Given the description of an element on the screen output the (x, y) to click on. 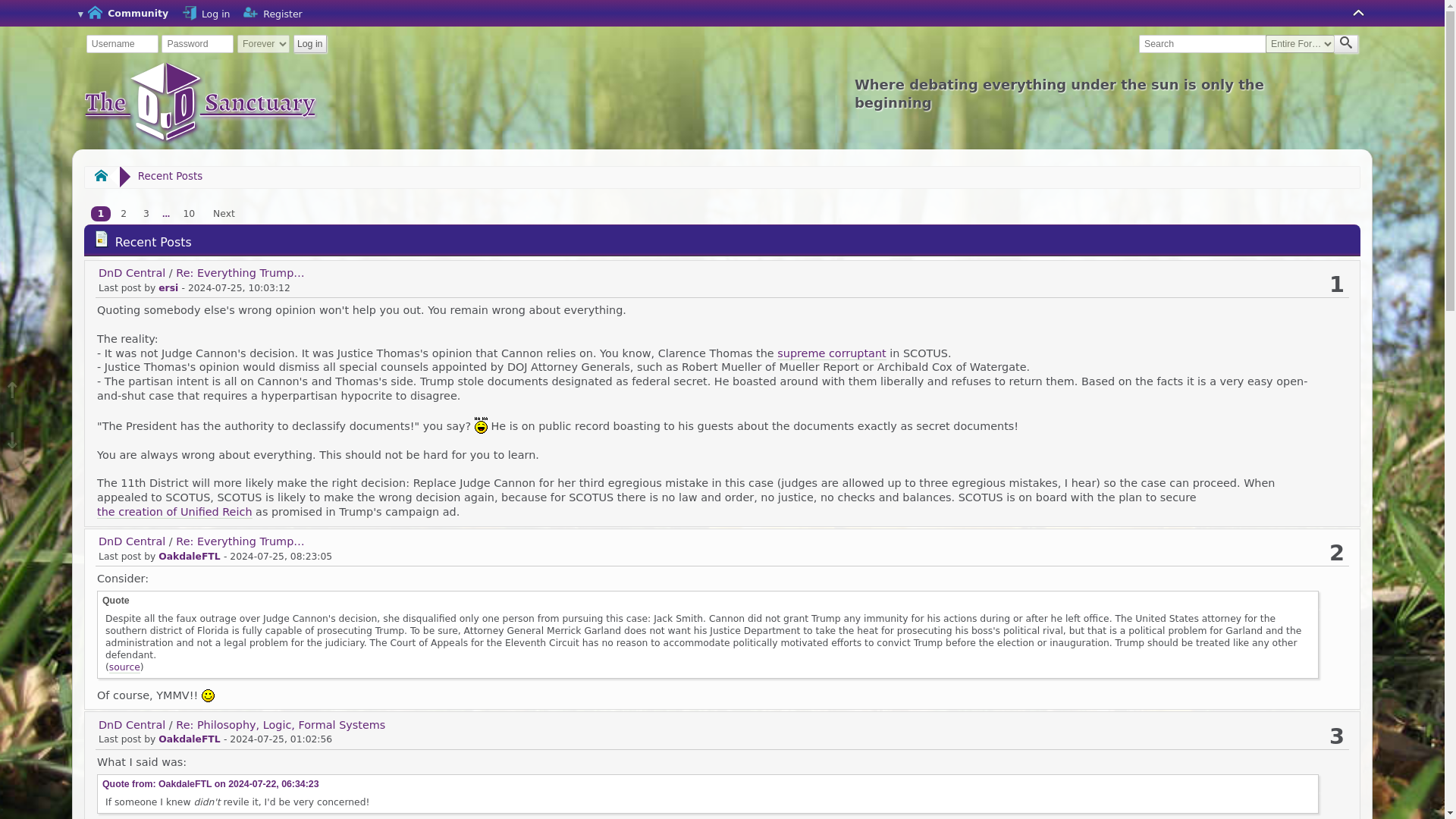
Log in (204, 14)
3 (146, 213)
Next (223, 213)
... (165, 213)
Shrink or expand the header. (1358, 13)
Quote from: OakdaleFTL on 2024-07-22, 06:34:23 (209, 783)
the creation of Unified Reich (174, 512)
Home (101, 177)
Last post (273, 783)
Log in (310, 44)
The DnD Sanctuary (199, 103)
Go Up (12, 378)
Register (250, 13)
Recent Posts (170, 175)
ersi (167, 287)
